Given the description of an element on the screen output the (x, y) to click on. 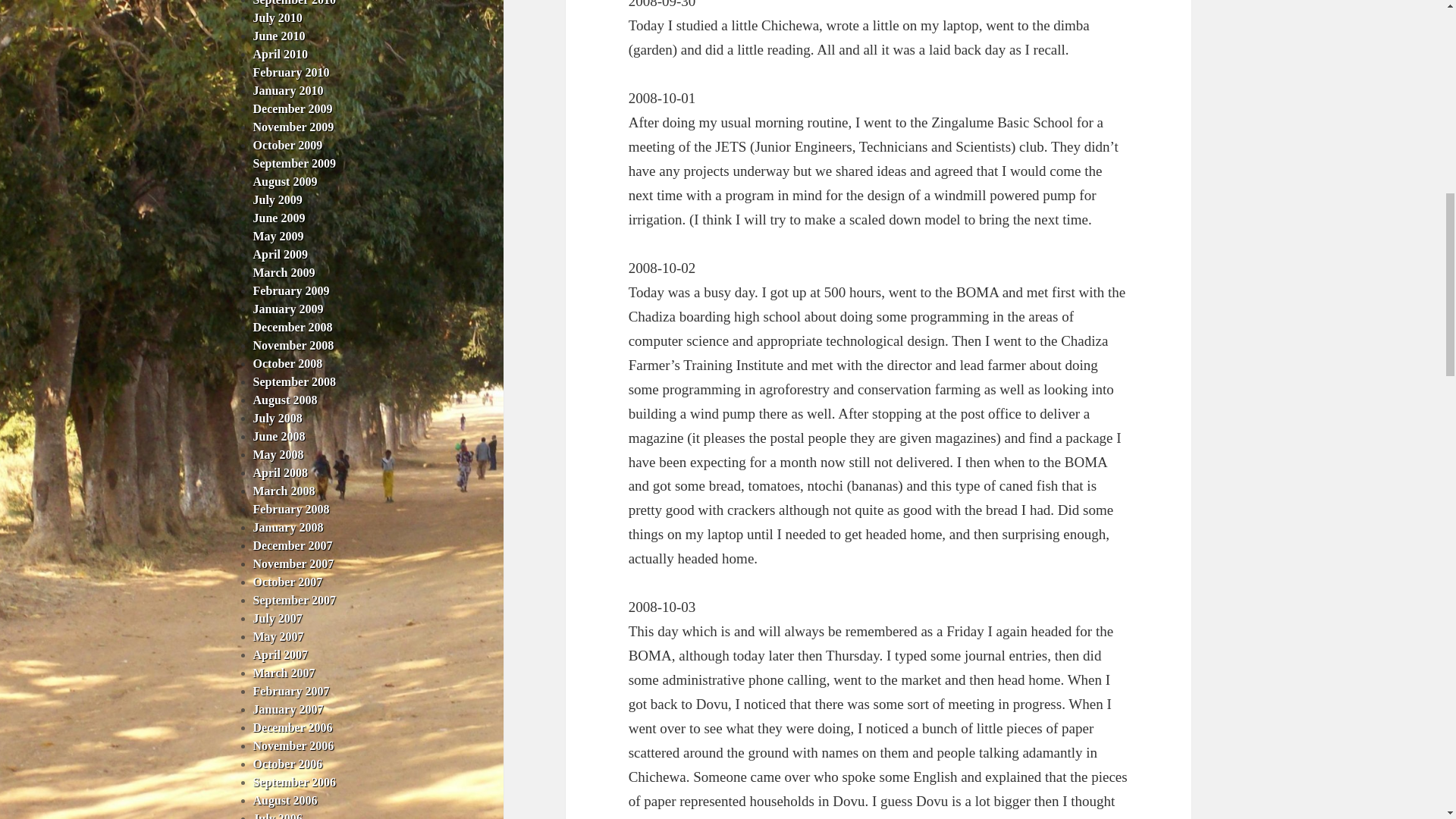
November 2009 (293, 126)
October 2009 (288, 144)
July 2009 (277, 199)
May 2009 (278, 236)
June 2010 (279, 35)
June 2009 (279, 217)
December 2009 (293, 108)
September 2009 (294, 163)
September 2010 (294, 2)
August 2009 (285, 181)
January 2010 (288, 90)
April 2010 (280, 53)
July 2010 (277, 17)
February 2010 (291, 72)
